Given the description of an element on the screen output the (x, y) to click on. 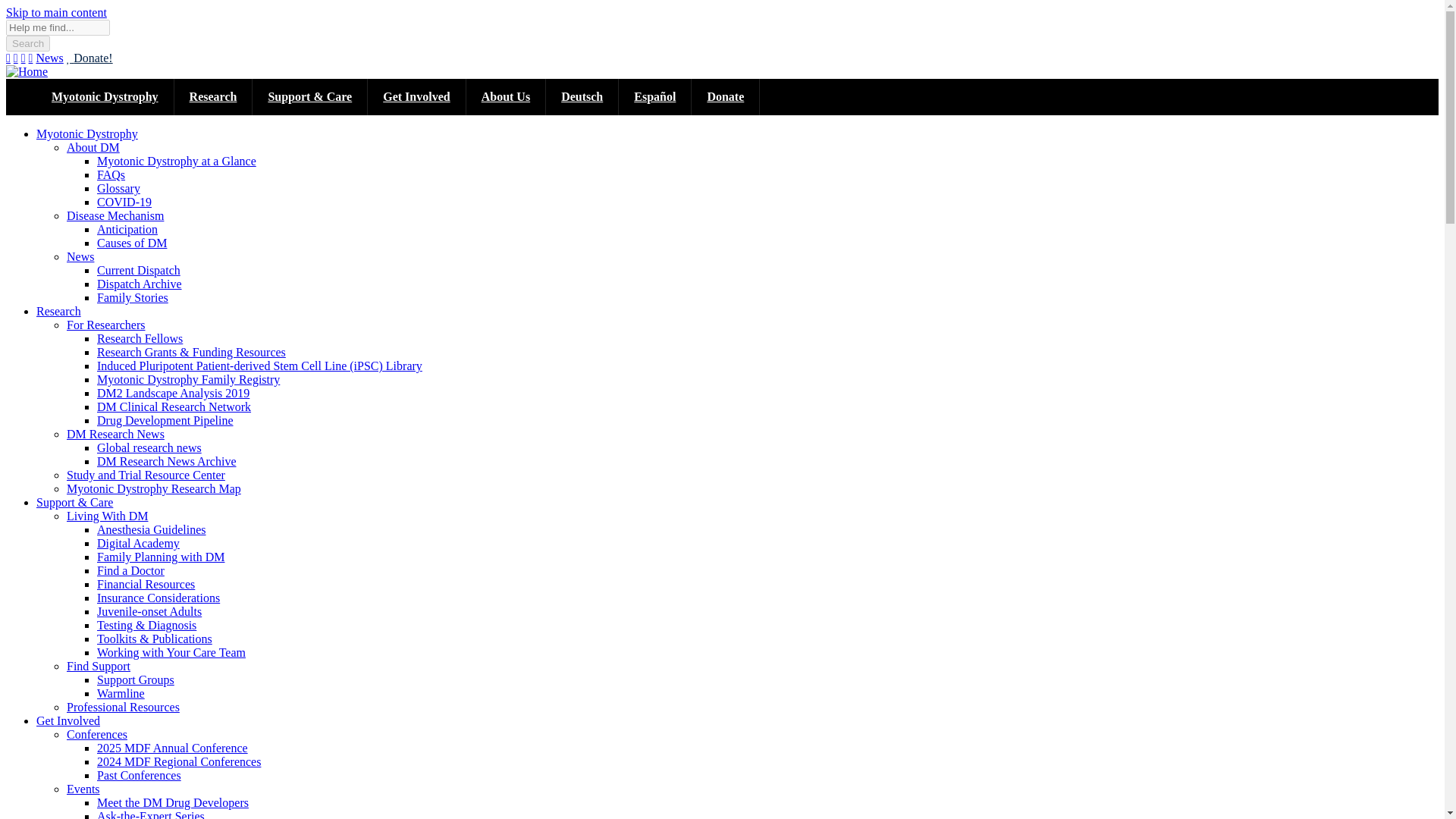
News (48, 57)
MDF Instagram (15, 57)
Search (27, 43)
Information on recent DM research advances. (213, 96)
Myotonic Dystrophy (105, 96)
MDF Facebook (7, 57)
Enter the terms you wish to search for. (57, 27)
Skip to main content (55, 11)
Home (26, 71)
 Donate! (89, 57)
MDF YouTube (31, 57)
Research (213, 96)
Myotonic Dystrophy in a nutshell. (105, 96)
MDF Twitter (23, 57)
Donate to MDF (89, 57)
